Given the description of an element on the screen output the (x, y) to click on. 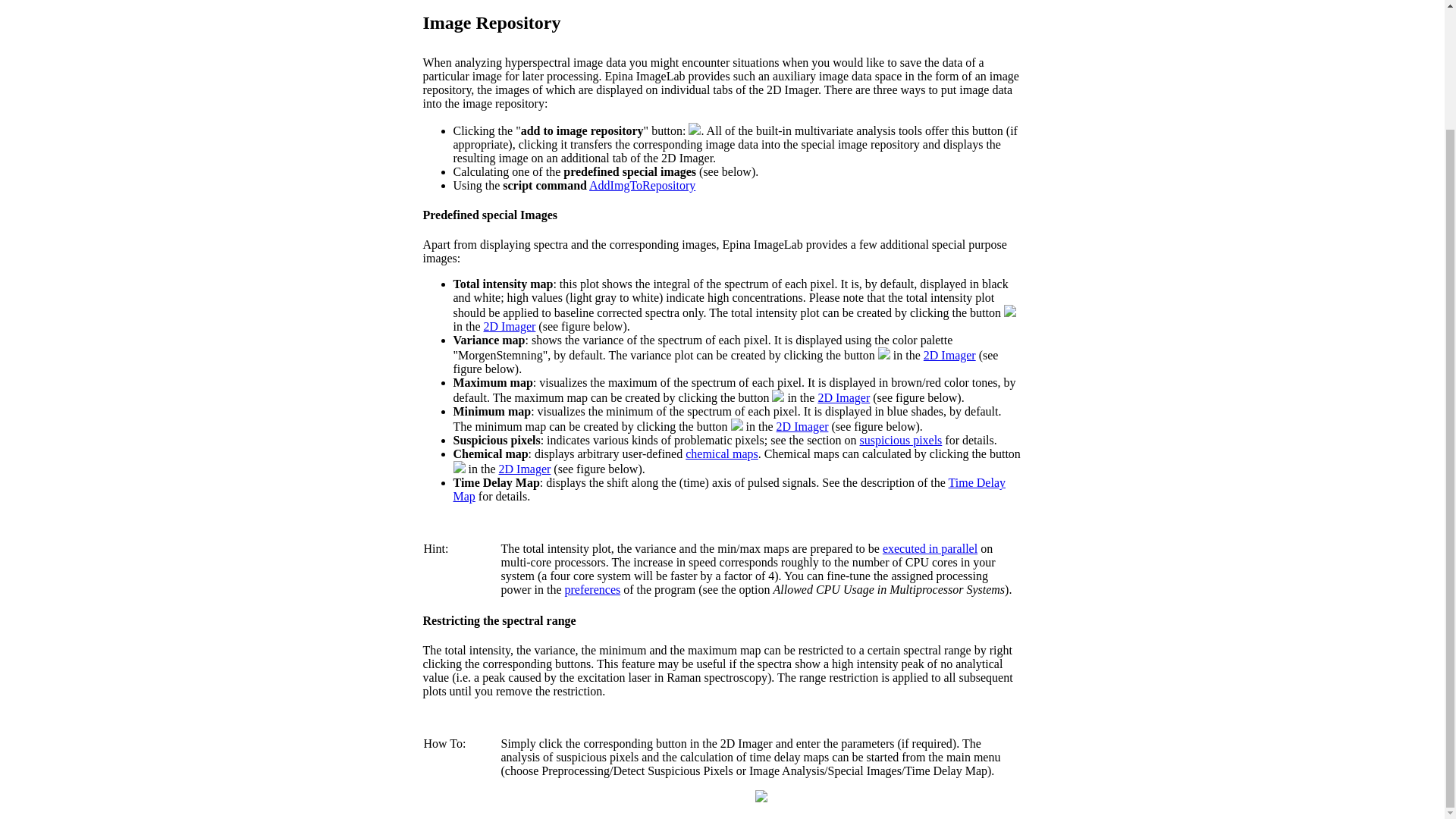
2D Imager (802, 426)
chemical maps (721, 453)
2D Imager (509, 326)
2D Imager (842, 397)
AddImgToRepository (642, 185)
suspicious pixels (900, 440)
Time Delay Map (729, 488)
executed in parallel (929, 548)
preferences (592, 589)
2D Imager (949, 354)
2D Imager (525, 468)
